Given the description of an element on the screen output the (x, y) to click on. 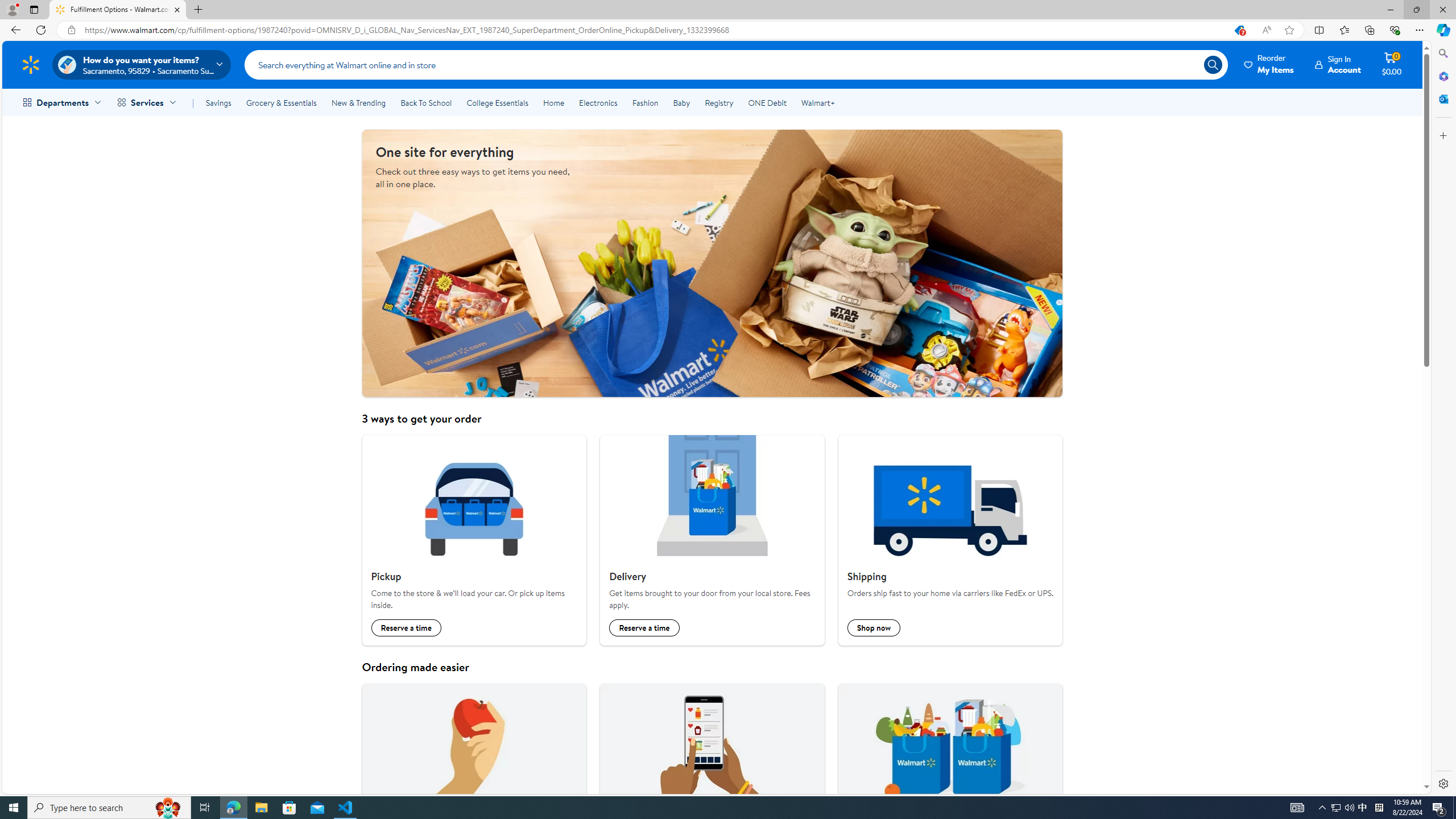
Fashion (644, 102)
Walmart+ (817, 102)
Registry (718, 102)
Fashion (644, 102)
Back To School (425, 102)
College Essentials (496, 102)
Sign In Account (1338, 64)
Walmart Homepage (30, 64)
College Essentials (496, 102)
Fulfillment Options - Walmart.com (117, 9)
